Given the description of an element on the screen output the (x, y) to click on. 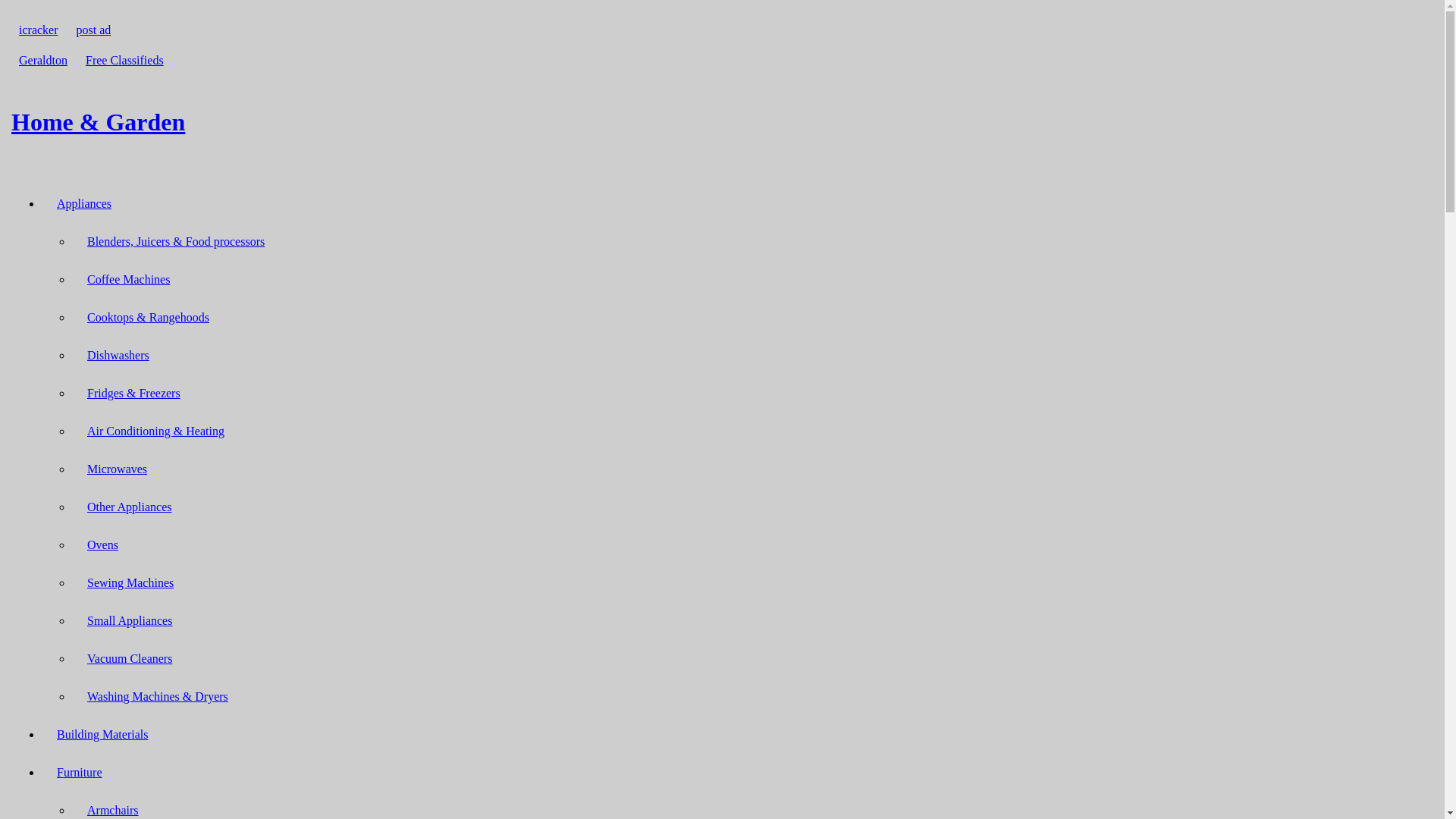
Air Conditioning & Heating Element type: text (155, 431)
Appliances Element type: text (84, 203)
Sewing Machines Element type: text (130, 582)
icracker Element type: text (38, 29)
Small Appliances Element type: text (129, 620)
Blenders, Juicers & Food processors Element type: text (175, 241)
Dishwashers Element type: text (117, 355)
Furniture Element type: text (79, 772)
Cooktops & Rangehoods Element type: text (147, 317)
Vacuum Cleaners Element type: text (129, 658)
Coffee Machines Element type: text (128, 279)
Microwaves Element type: text (116, 469)
Ovens Element type: text (102, 544)
Home & Garden Element type: text (722, 122)
post ad Element type: text (94, 30)
Washing Machines & Dryers Element type: text (157, 696)
Other Appliances Element type: text (129, 506)
Fridges & Freezers Element type: text (133, 393)
Free Classifieds Element type: text (124, 60)
Building Materials Element type: text (102, 734)
Geraldton Element type: text (43, 60)
